Given the description of an element on the screen output the (x, y) to click on. 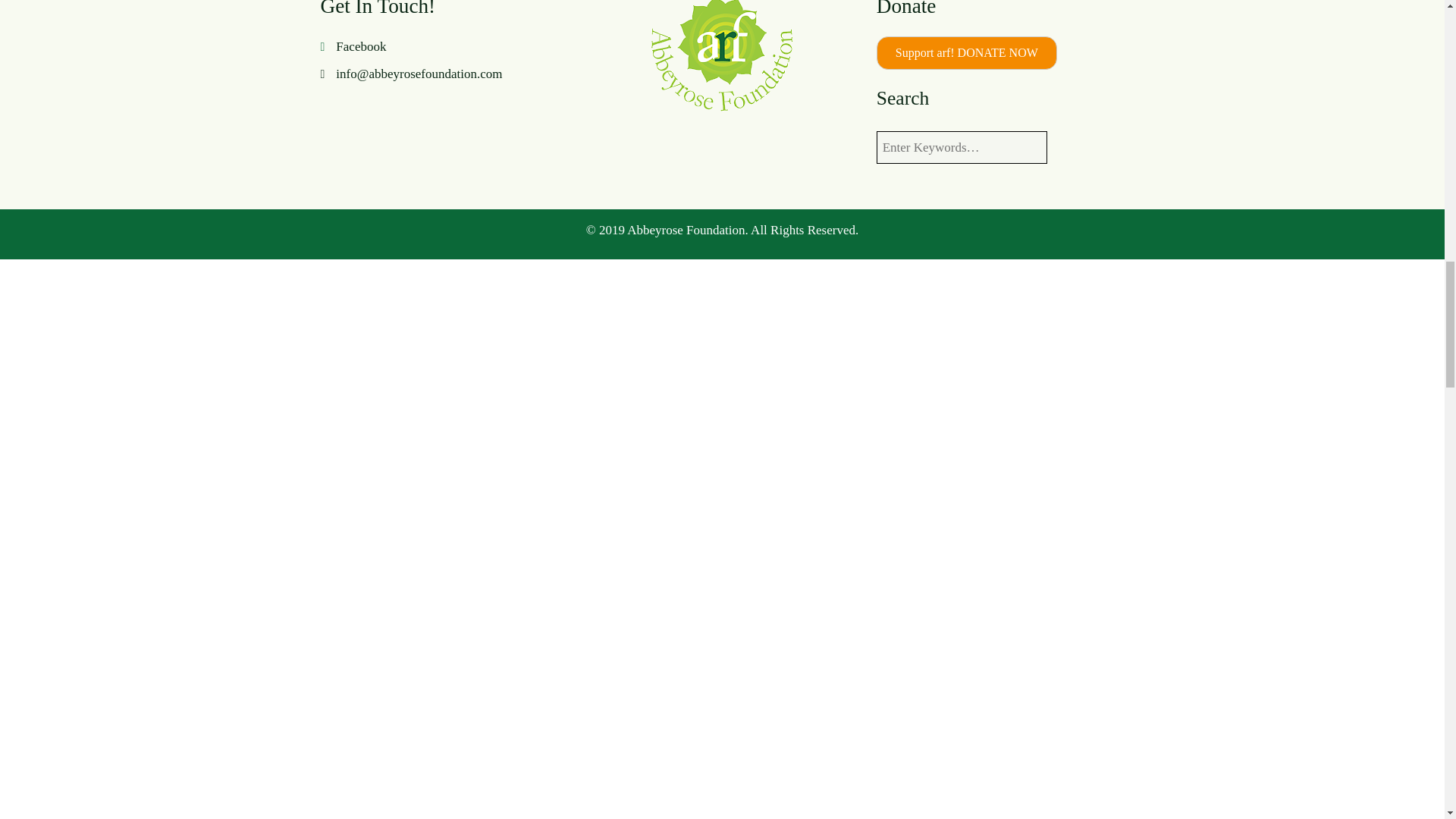
abbeyroselogocr (721, 58)
Facebook (360, 46)
Support arf! DONATE NOW (966, 52)
